Given the description of an element on the screen output the (x, y) to click on. 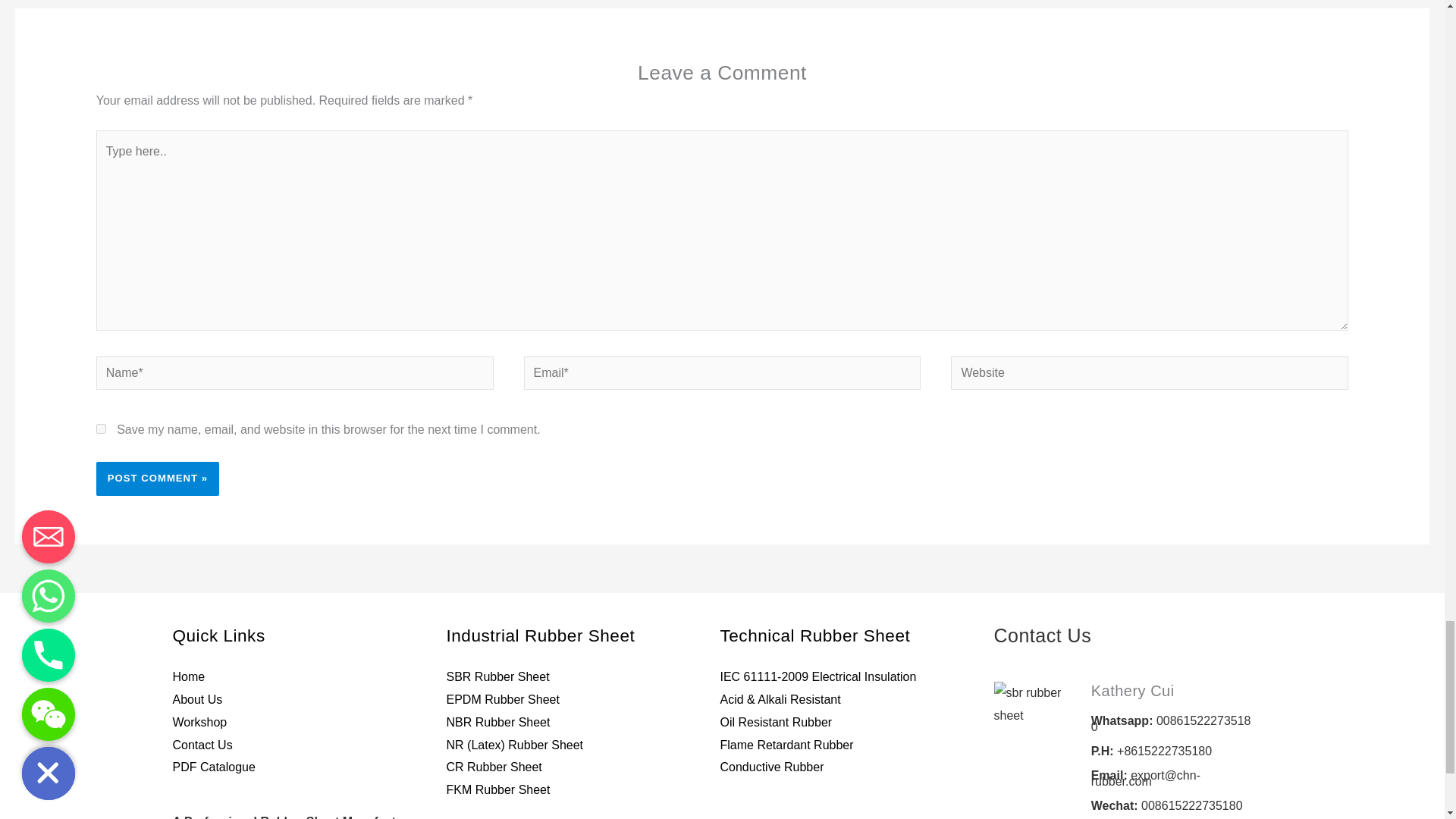
yes (101, 429)
